Given the description of an element on the screen output the (x, y) to click on. 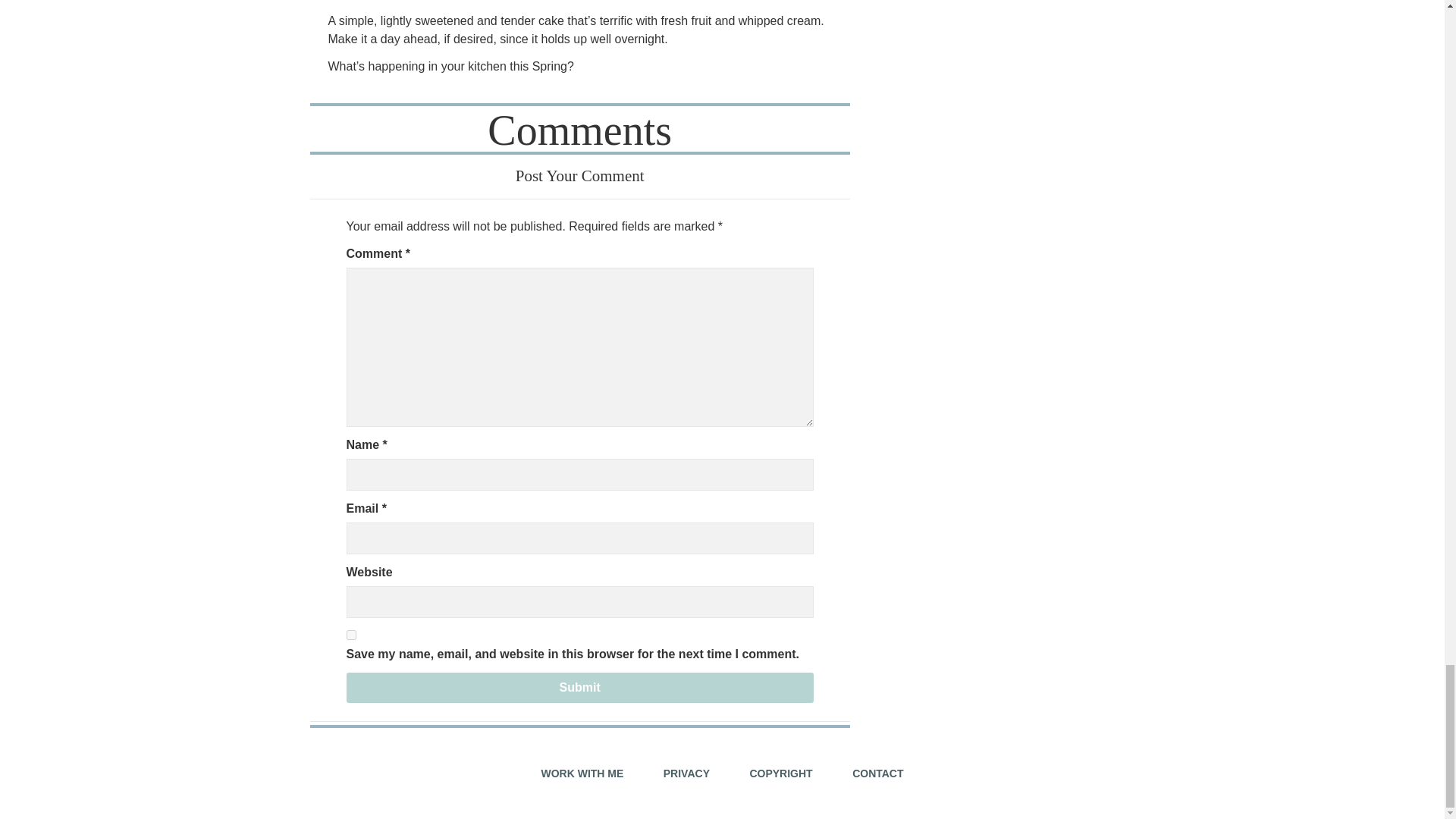
Submit (579, 687)
Submit (579, 687)
yes (350, 634)
